Given the description of an element on the screen output the (x, y) to click on. 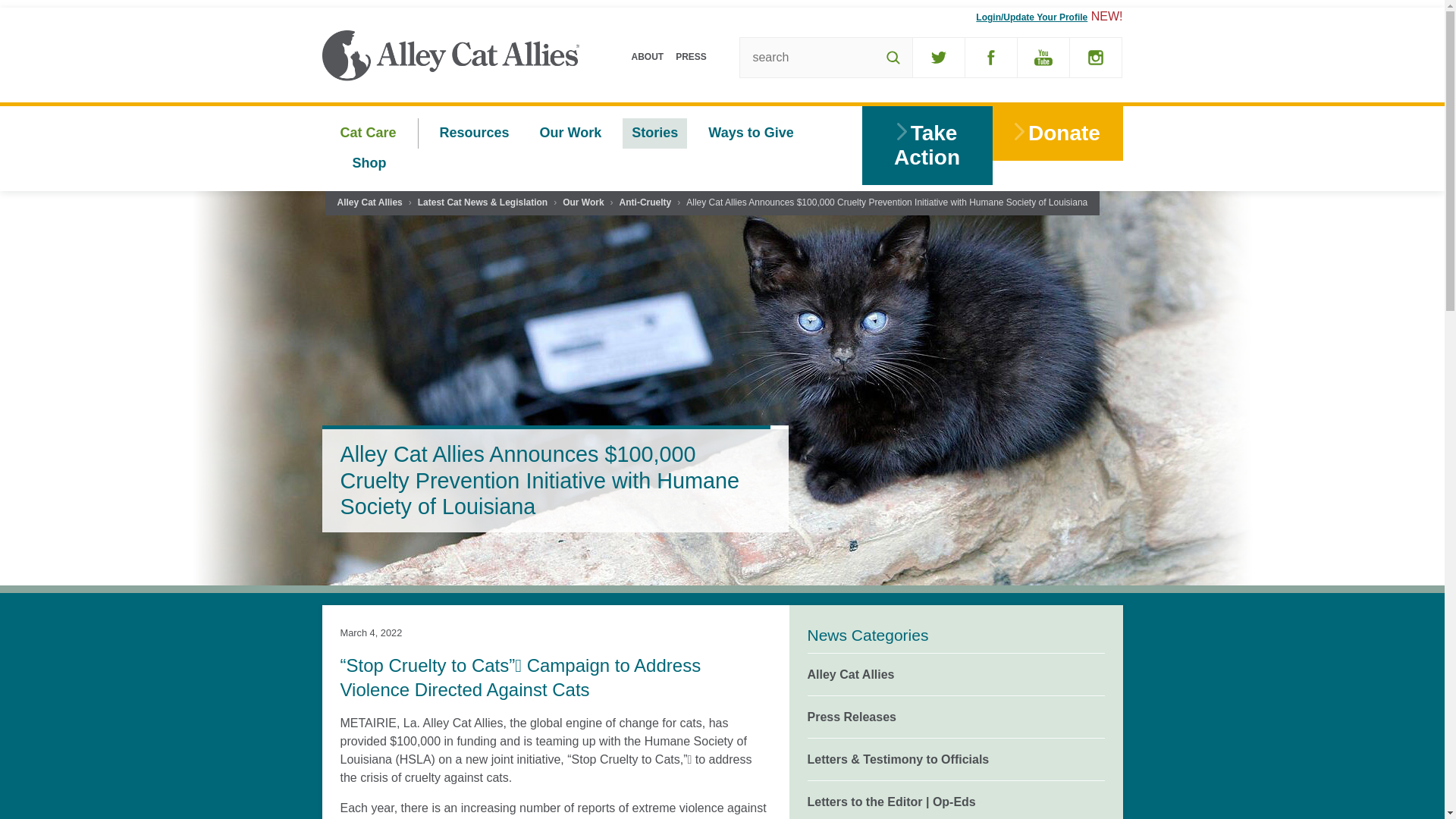
Search (893, 56)
Cat Care (367, 132)
Stories (655, 132)
YouTube (1042, 56)
Twitter (937, 56)
Take Action (926, 145)
Instagram (1095, 56)
PRESS (691, 56)
Resources (474, 132)
Go to the Our Work category archives. (583, 203)
Ways to Give (750, 132)
ABOUT (646, 56)
Facebook (990, 56)
Our Work (571, 132)
